Given the description of an element on the screen output the (x, y) to click on. 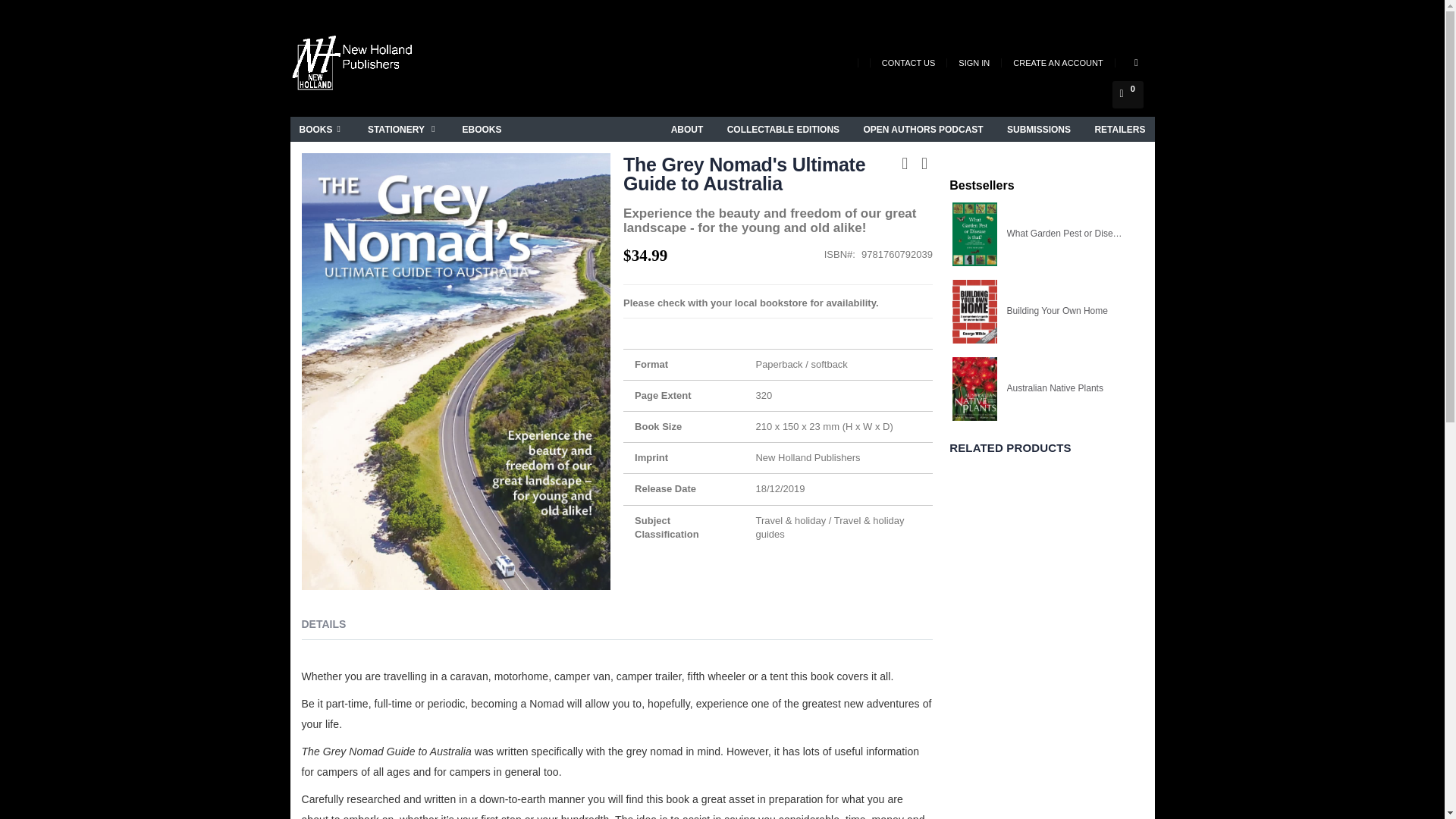
OPEN AUTHORS PODCAST (922, 129)
EBOOKS (481, 129)
SIGN IN (974, 62)
RETAILERS (1119, 129)
SUBMISSIONS (1038, 129)
Stationery  (403, 129)
Books (322, 129)
BOOKS (322, 129)
ABOUT (687, 129)
STATIONERY (403, 129)
COLLECTABLE EDITIONS (782, 129)
CONTACT US (908, 62)
New Holland Publishers (354, 65)
